Given the description of an element on the screen output the (x, y) to click on. 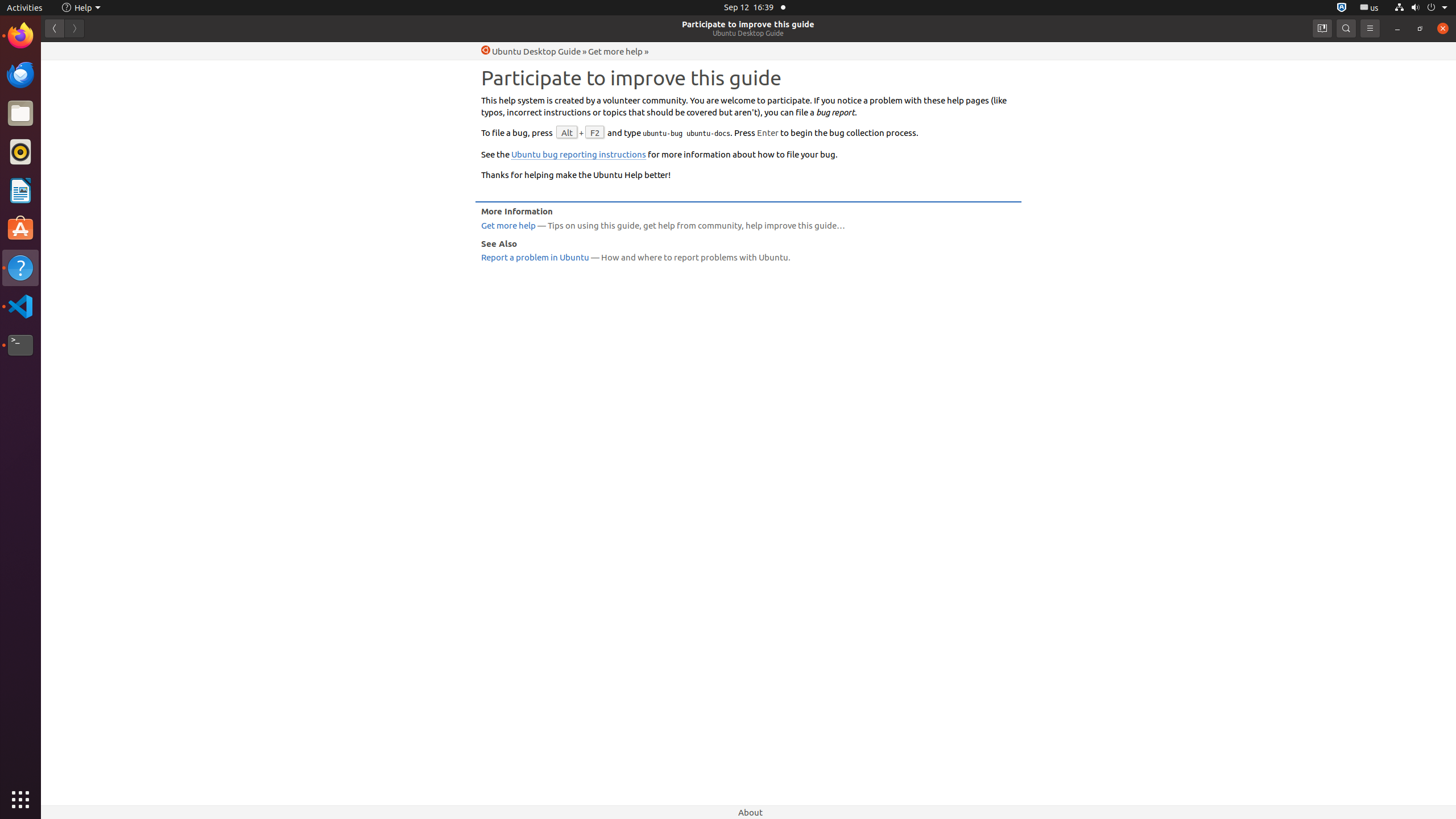
Firefox Web Browser Element type: push-button (20, 35)
Ubuntu bug reporting instructions Element type: link (578, 154)
li.txt Element type: label (146, 50)
Activities Element type: label (24, 7)
